Given the description of an element on the screen output the (x, y) to click on. 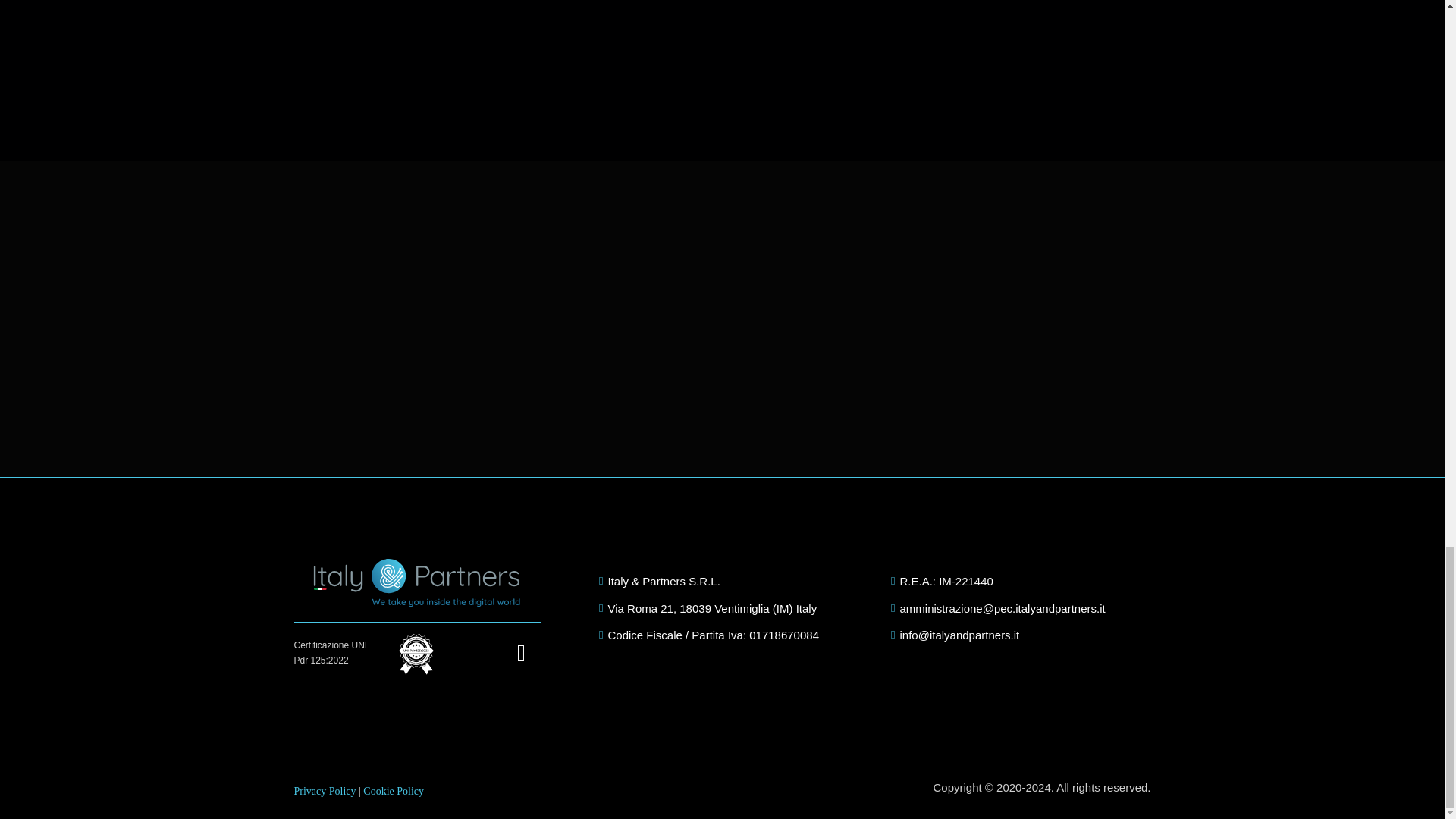
R.E.A.: IM-221440 (1021, 581)
